Given the description of an element on the screen output the (x, y) to click on. 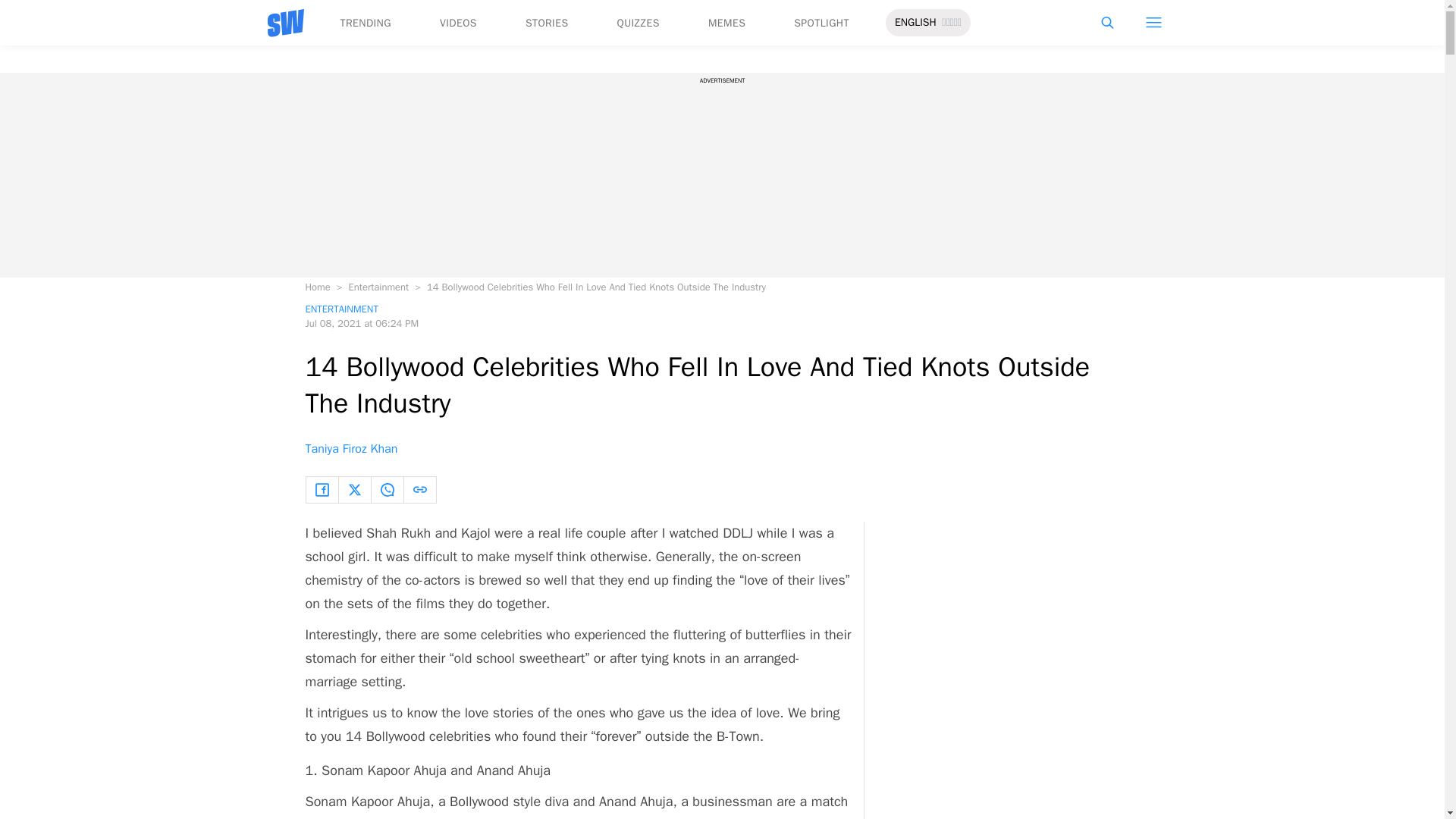
MEMES (726, 22)
TRENDING (364, 22)
STORIES (547, 22)
ENGLISH (915, 22)
QUIZZES (638, 22)
SPOTLIGHT (820, 22)
VIDEOS (458, 22)
